Given the description of an element on the screen output the (x, y) to click on. 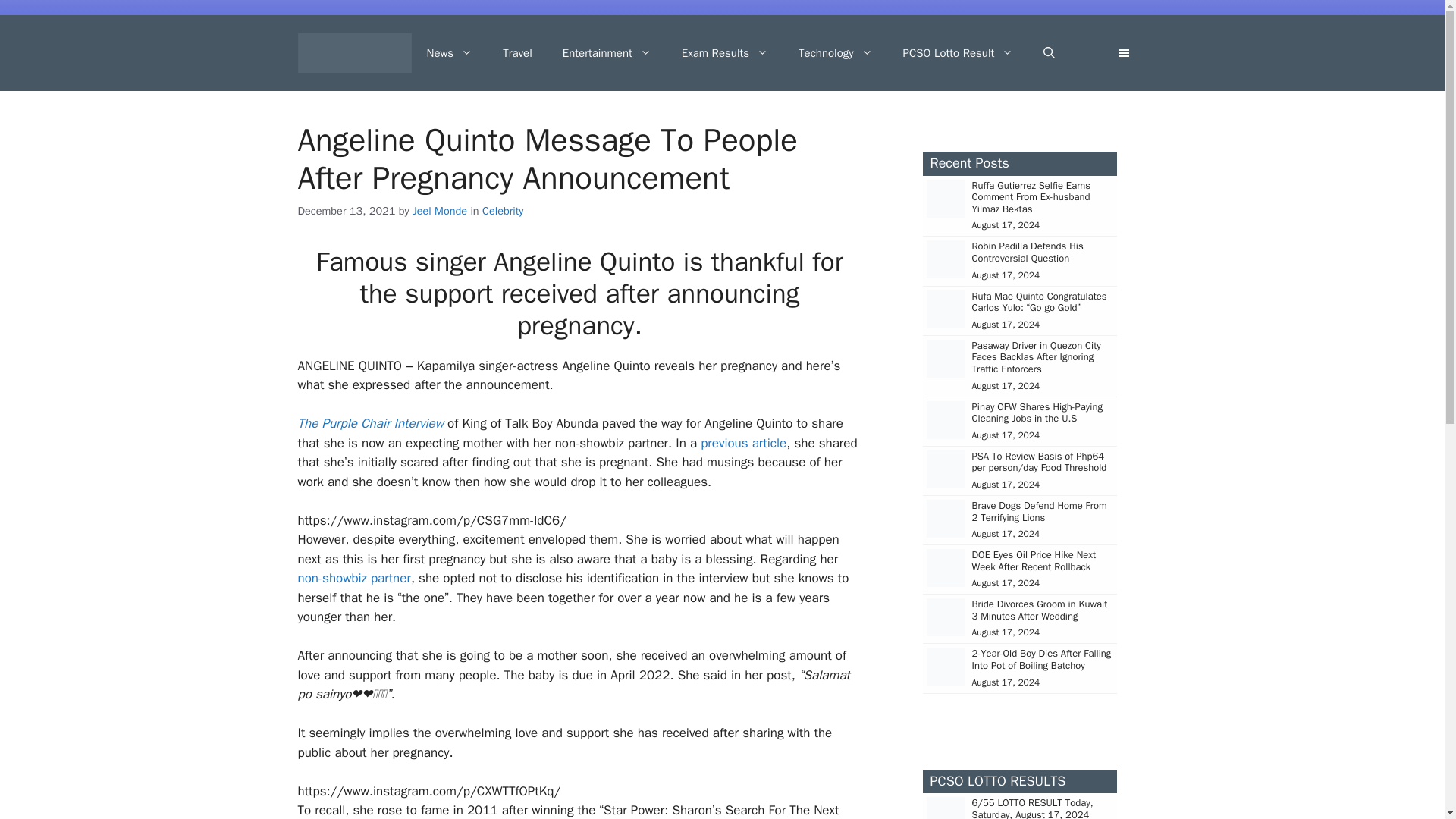
Entertainment (606, 53)
News (448, 53)
View all posts by Jeel Monde (439, 210)
Travel (517, 53)
Exam Results (724, 53)
